Given the description of an element on the screen output the (x, y) to click on. 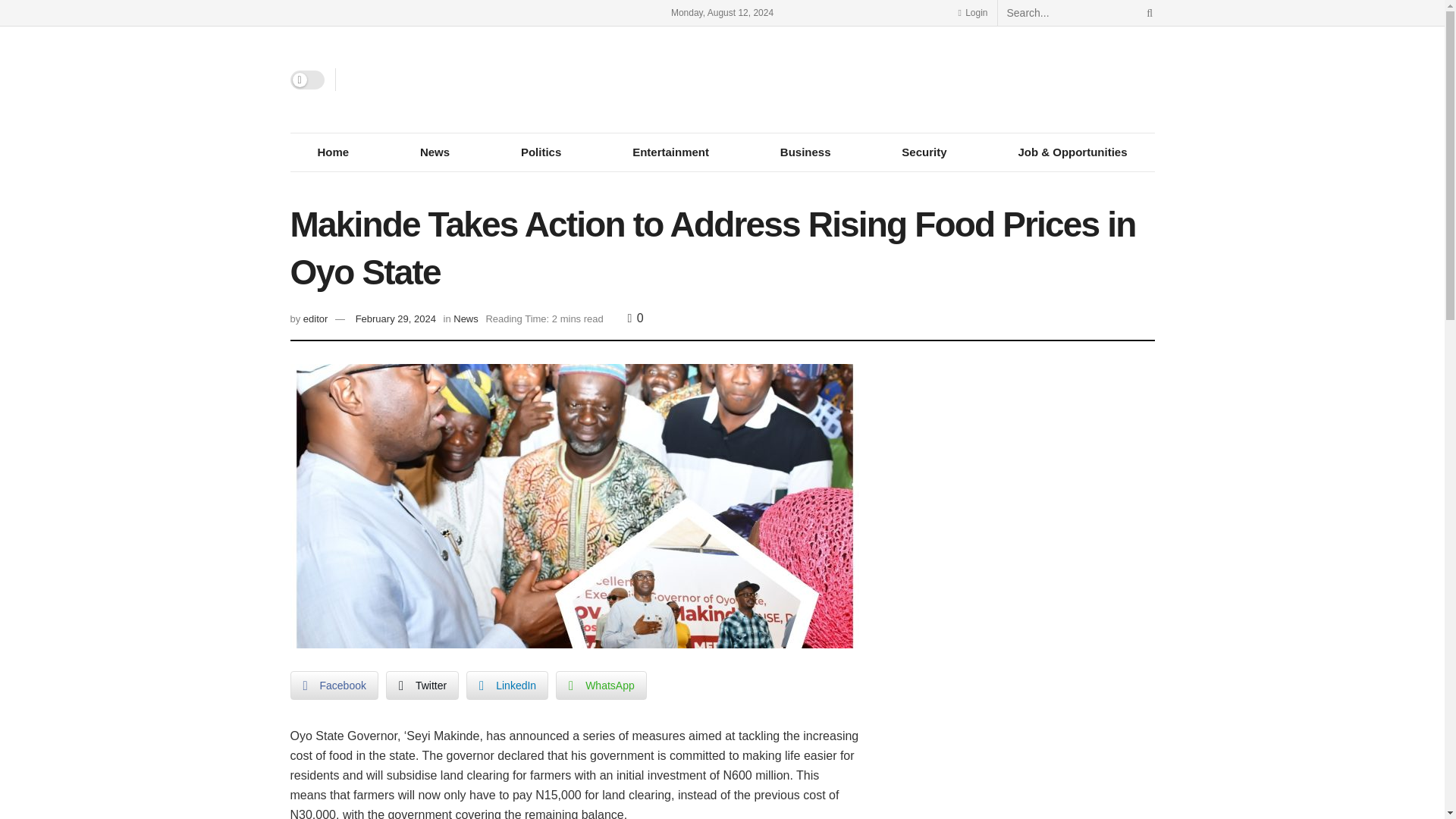
LinkedIn (506, 685)
Politics (540, 152)
Business (805, 152)
editor (315, 318)
Twitter (421, 685)
News (465, 318)
0 (635, 318)
Advertisement (1023, 476)
February 29, 2024 (395, 318)
Entertainment (670, 152)
